Given the description of an element on the screen output the (x, y) to click on. 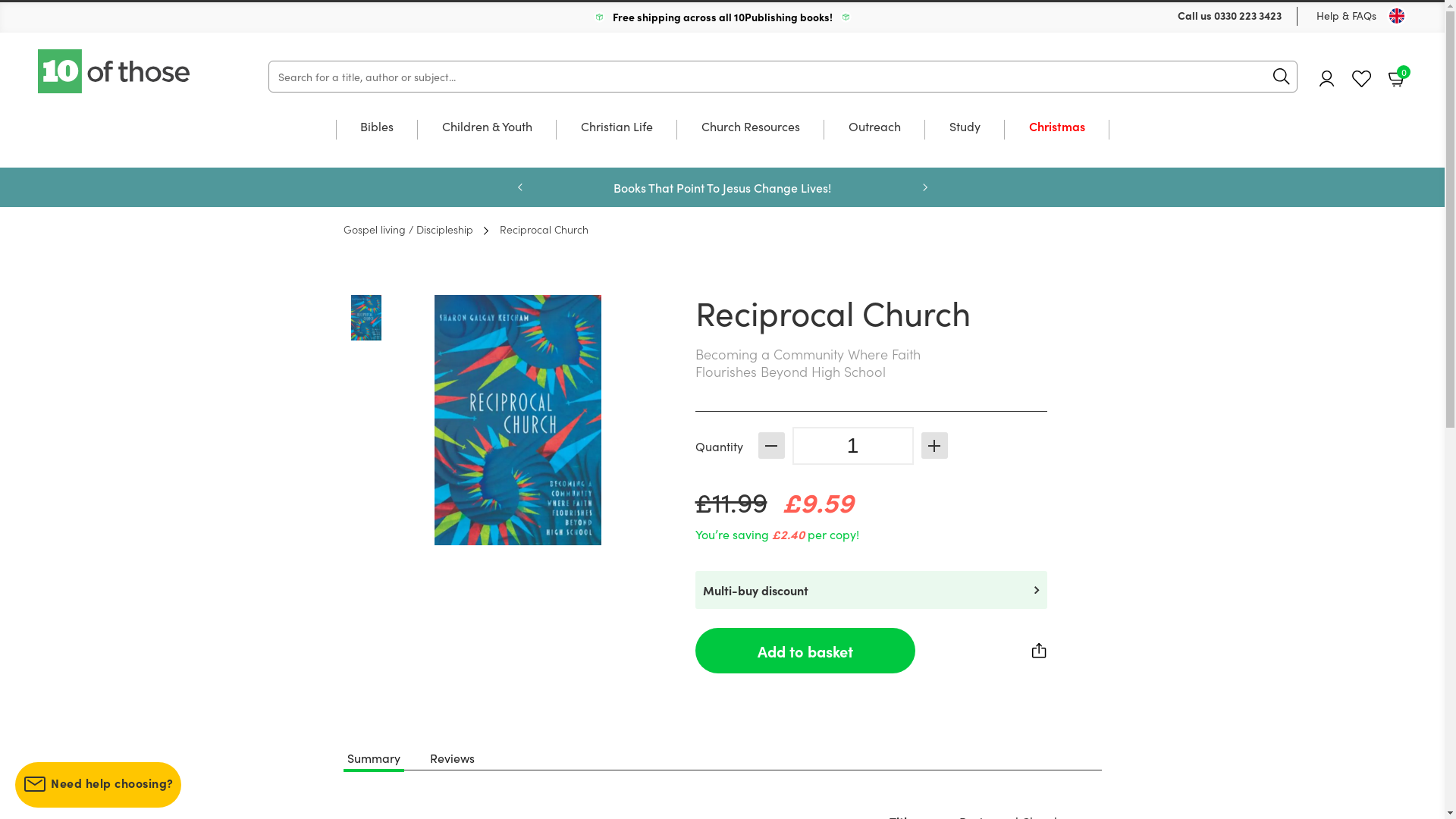
Favourites Element type: text (1361, 78)
Christian Life Element type: text (616, 140)
Help & FAQs Element type: text (1346, 14)
Submit the search query. Element type: hover (1281, 76)
Reviews Element type: text (451, 757)
Church Resources Element type: text (749, 140)
Next Element type: text (924, 187)
Outreach Element type: text (873, 140)
Add to basket Element type: text (804, 650)
Reciprocal Church Element type: text (535, 228)
Books That Point To Jesus Change Lives! Element type: text (722, 187)
Christmas Element type: text (1056, 140)
Study Element type: text (964, 140)
Previous Element type: text (519, 187)
Share Element type: text (1038, 650)
Bibles Element type: text (375, 140)
Children & Youth Element type: text (486, 140)
Basket
0 Element type: text (1397, 78)
Account Element type: text (1326, 78)
0330 223 3423 Element type: text (1247, 14)
Free shipping across all 10Publishing books! Element type: text (722, 16)
Summary Element type: text (373, 757)
Need help choosing? Element type: text (98, 784)
Multi-buy discount Element type: text (870, 589)
Gospel living / Discipleship Element type: text (407, 228)
10 of those Element type: text (114, 71)
